Given the description of an element on the screen output the (x, y) to click on. 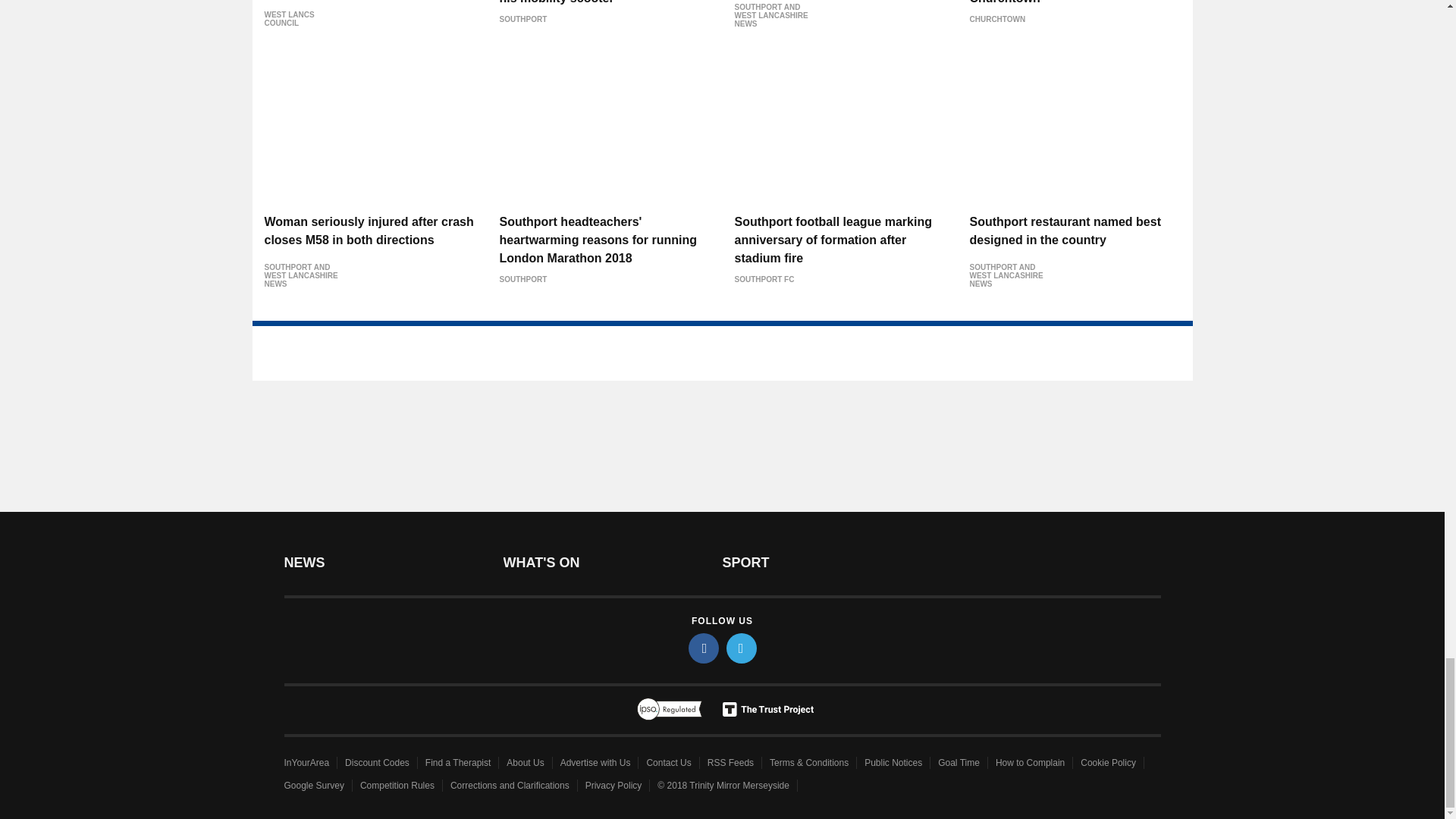
twitter (741, 648)
facebook (703, 648)
